Given the description of an element on the screen output the (x, y) to click on. 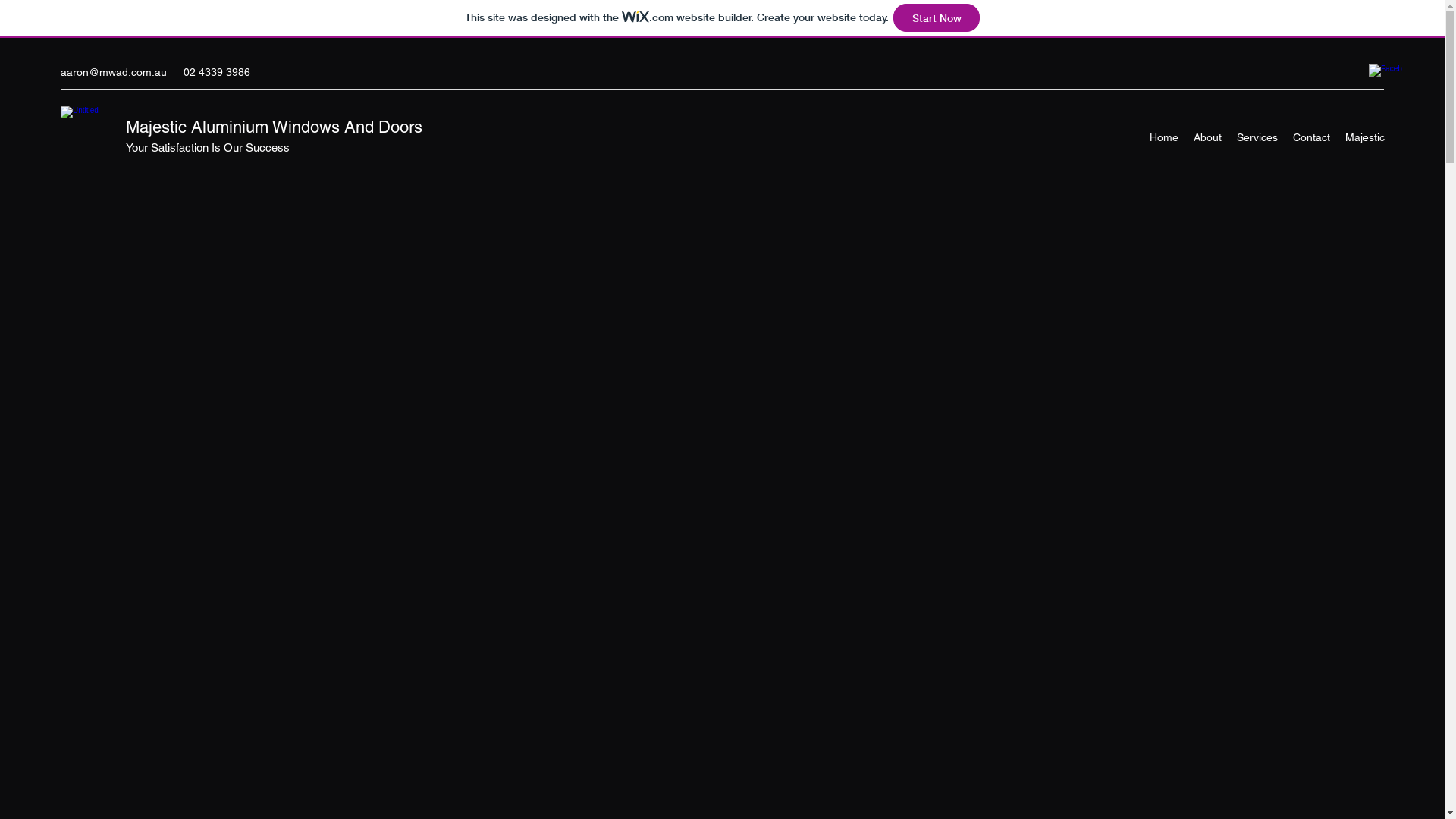
Majestic Aluminium Windows And Doors Element type: text (273, 126)
Home Element type: text (1164, 136)
aaron@mwad.com.au Element type: text (113, 71)
Services Element type: text (1257, 136)
Contact Element type: text (1311, 136)
About Element type: text (1207, 136)
Majestic Element type: text (1364, 136)
